Given the description of an element on the screen output the (x, y) to click on. 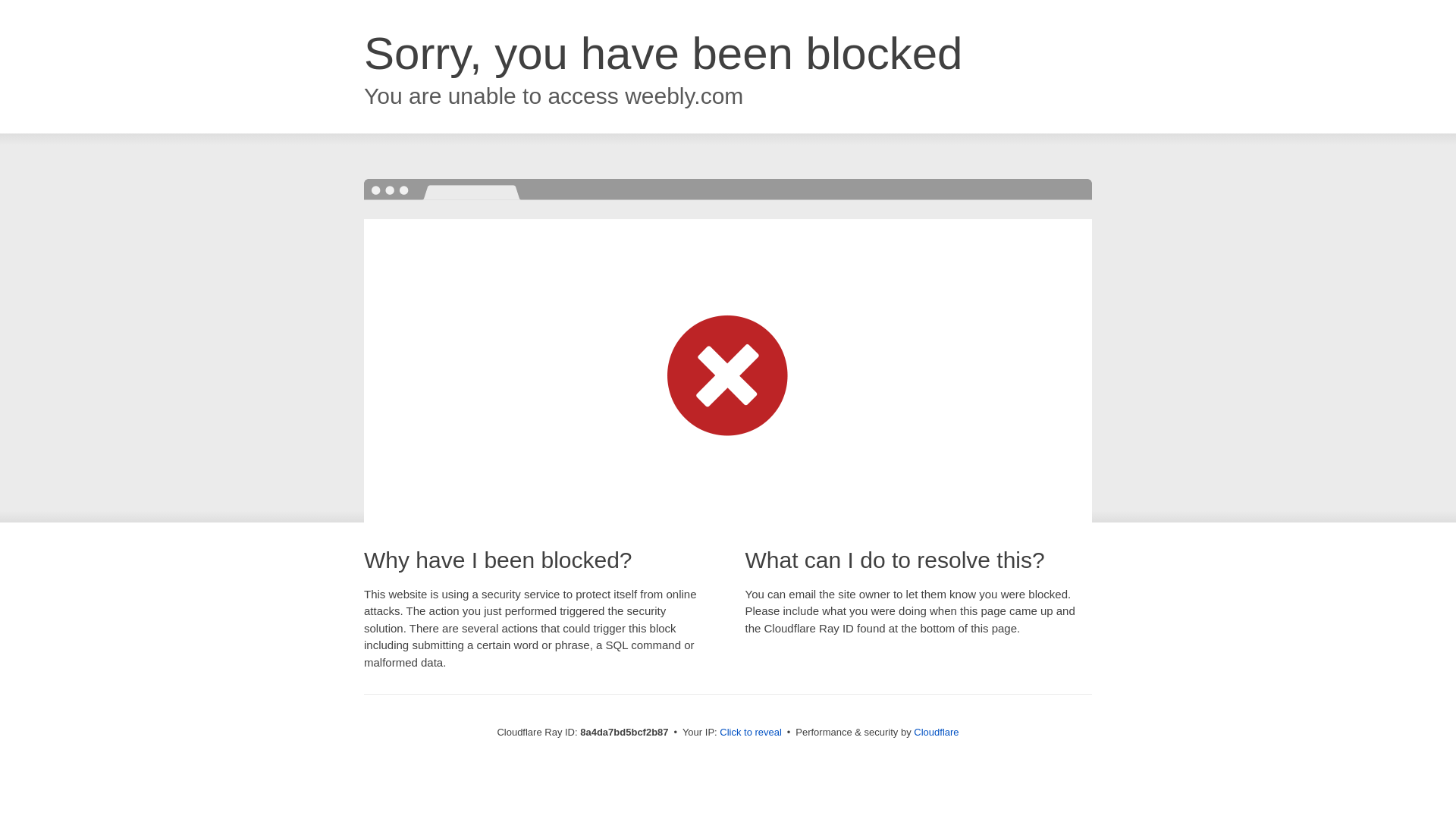
Click to reveal (750, 732)
Cloudflare (936, 731)
